Given the description of an element on the screen output the (x, y) to click on. 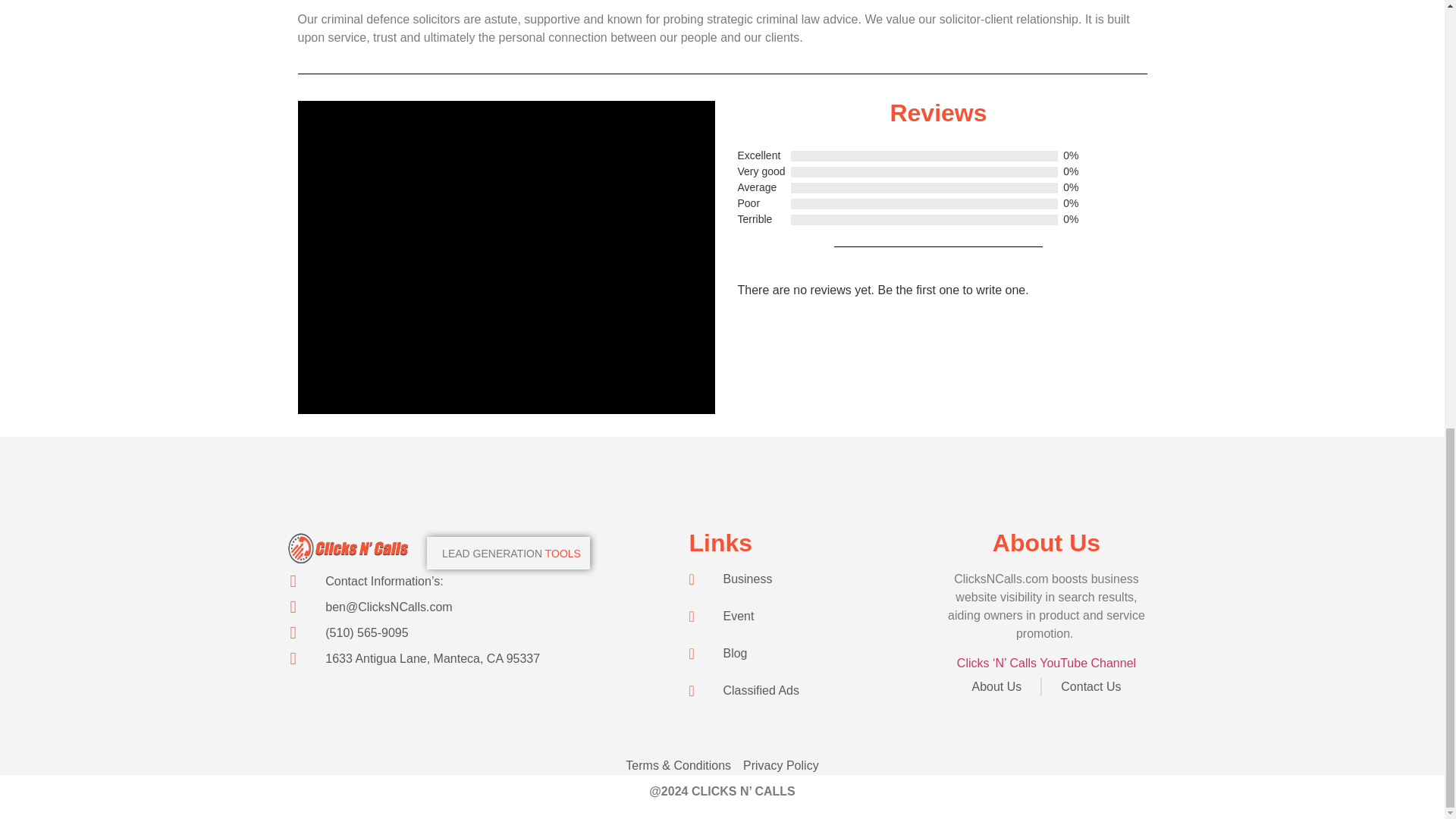
Classified Ads (812, 690)
Blog (812, 653)
Privacy Policy (780, 765)
Event (812, 616)
About Us (996, 687)
Business (812, 579)
Contact Us (1091, 687)
